Given the description of an element on the screen output the (x, y) to click on. 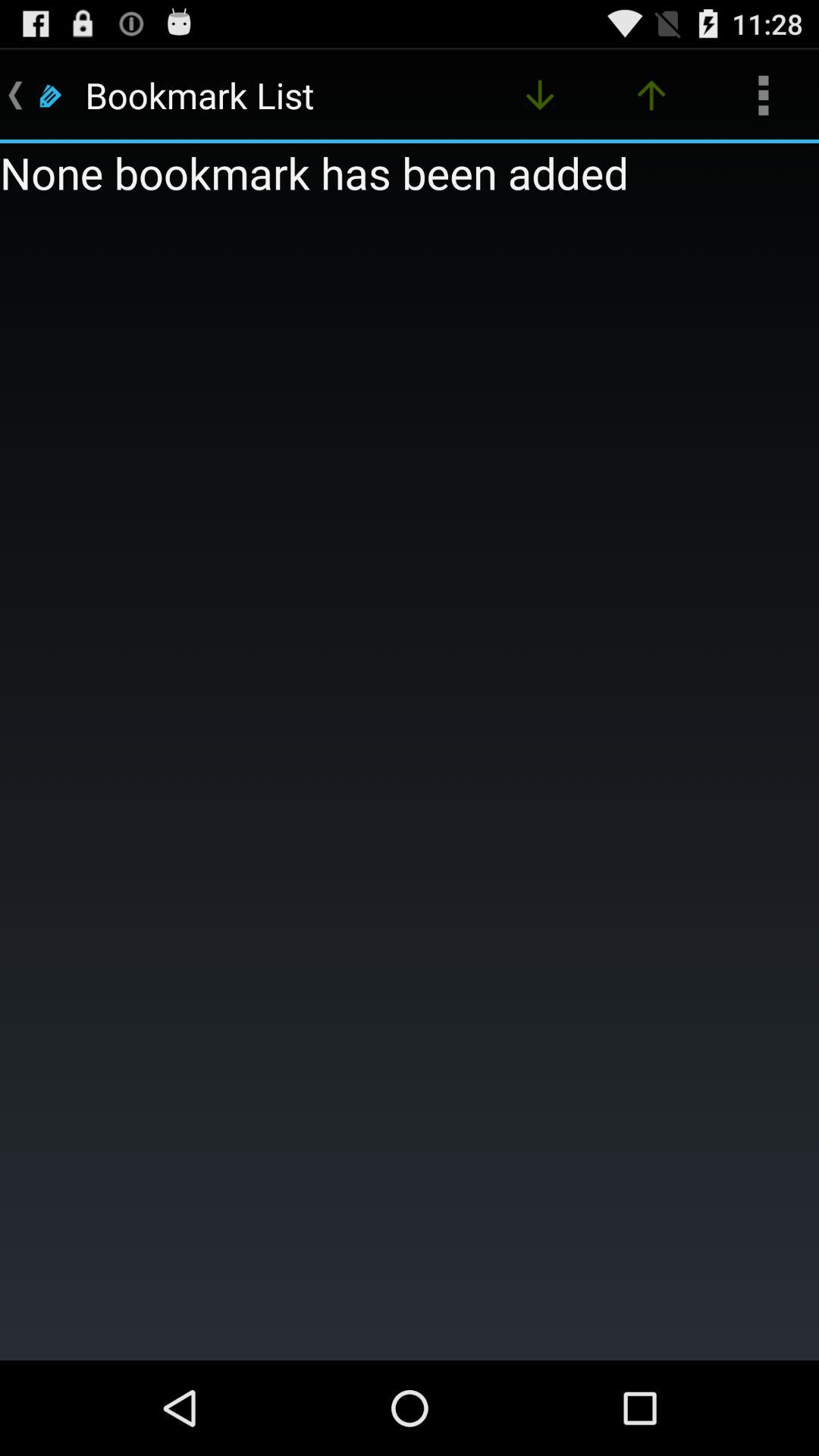
turn on the icon above none bookmark has item (651, 95)
